Given the description of an element on the screen output the (x, y) to click on. 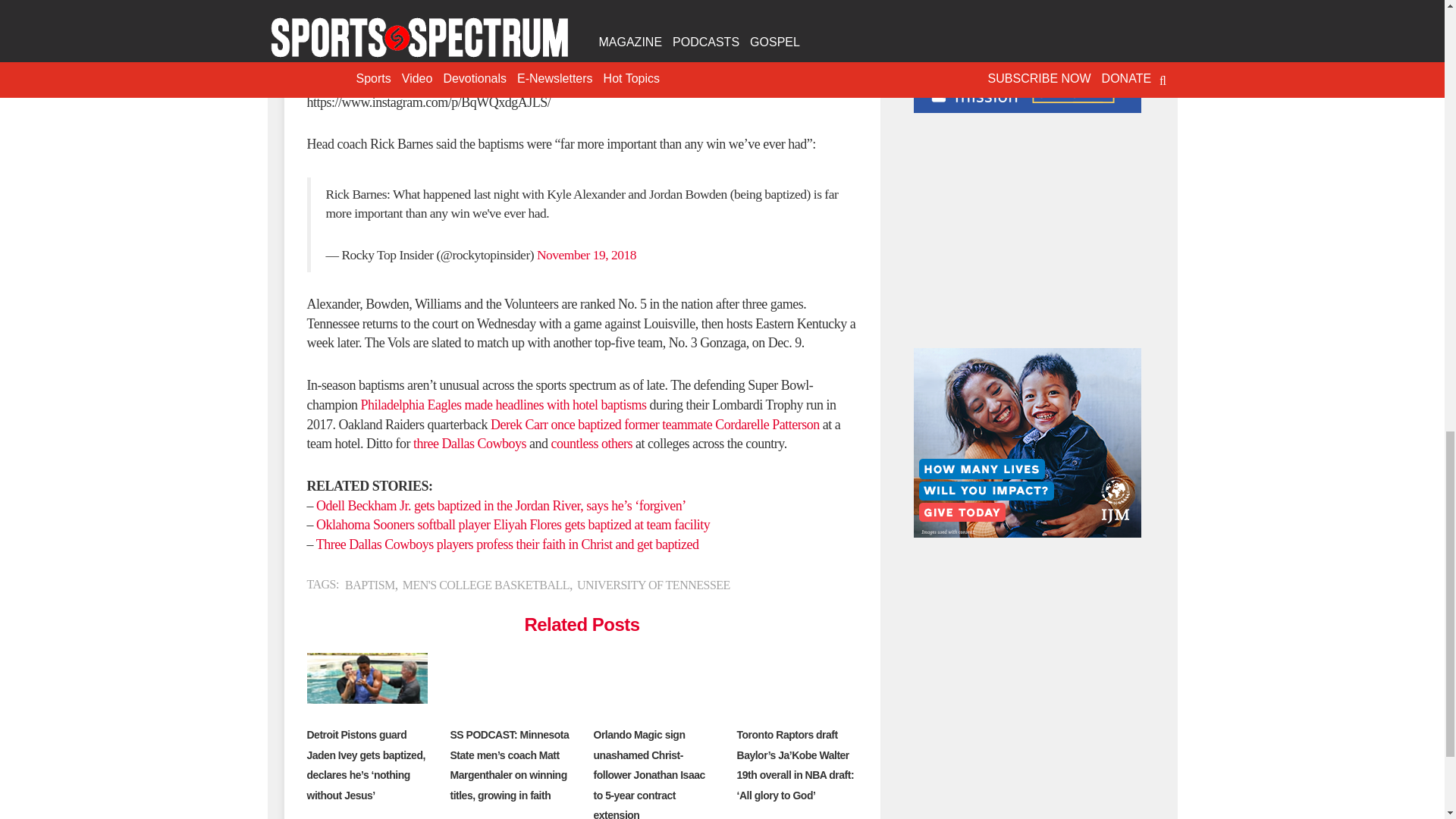
BAPTISM (369, 584)
three Dallas Cowboys (469, 443)
countless others (590, 443)
November 19, 2018 (586, 254)
Philadelphia Eagles made headlines with hotel baptisms (502, 404)
